Given the description of an element on the screen output the (x, y) to click on. 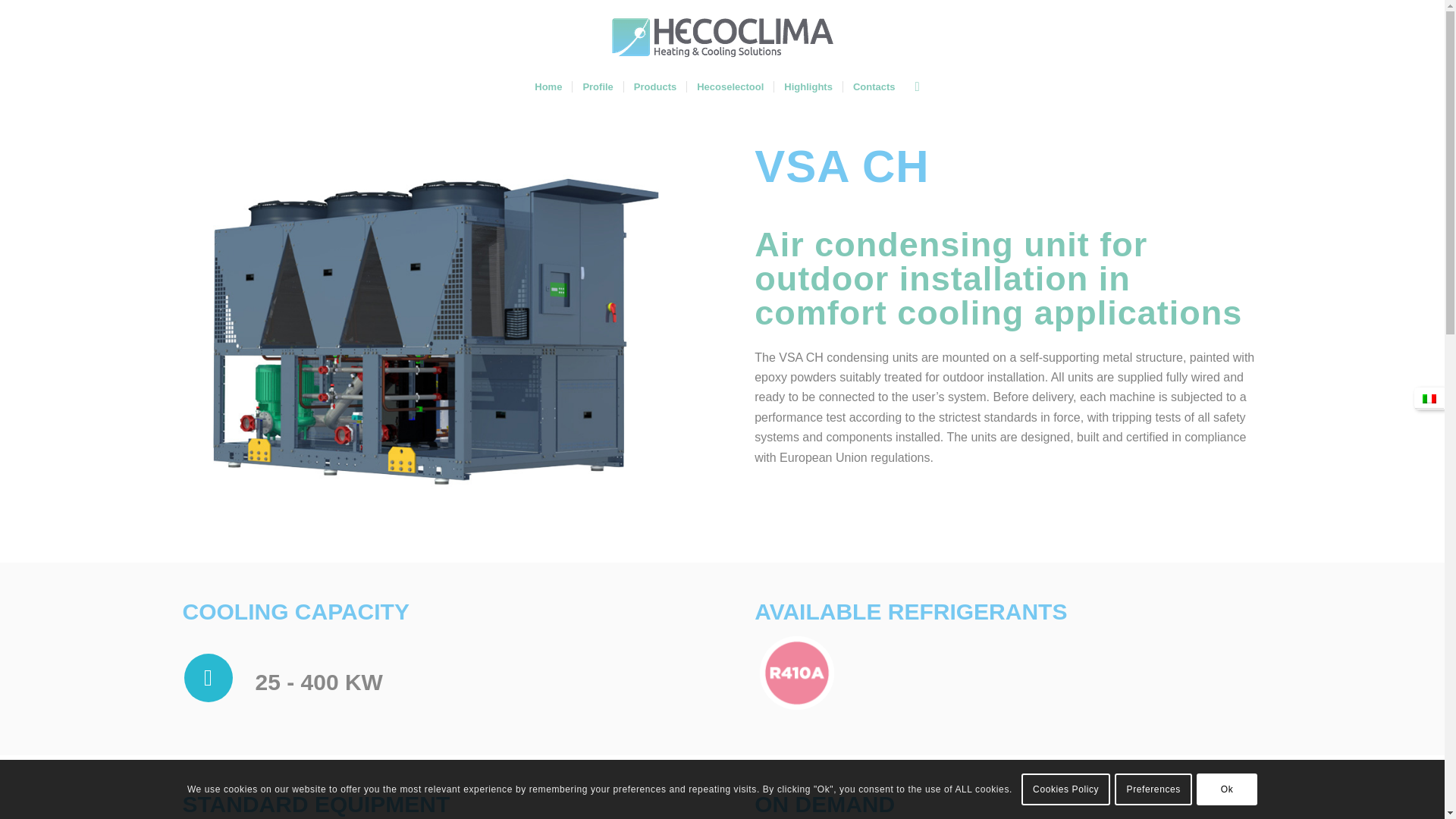
r410a (797, 672)
Highlights (808, 86)
Profile (597, 86)
logo (721, 49)
Products (654, 86)
Hecoselectool (729, 86)
Home (548, 86)
Contacts (874, 86)
logo (721, 37)
